Given the description of an element on the screen output the (x, y) to click on. 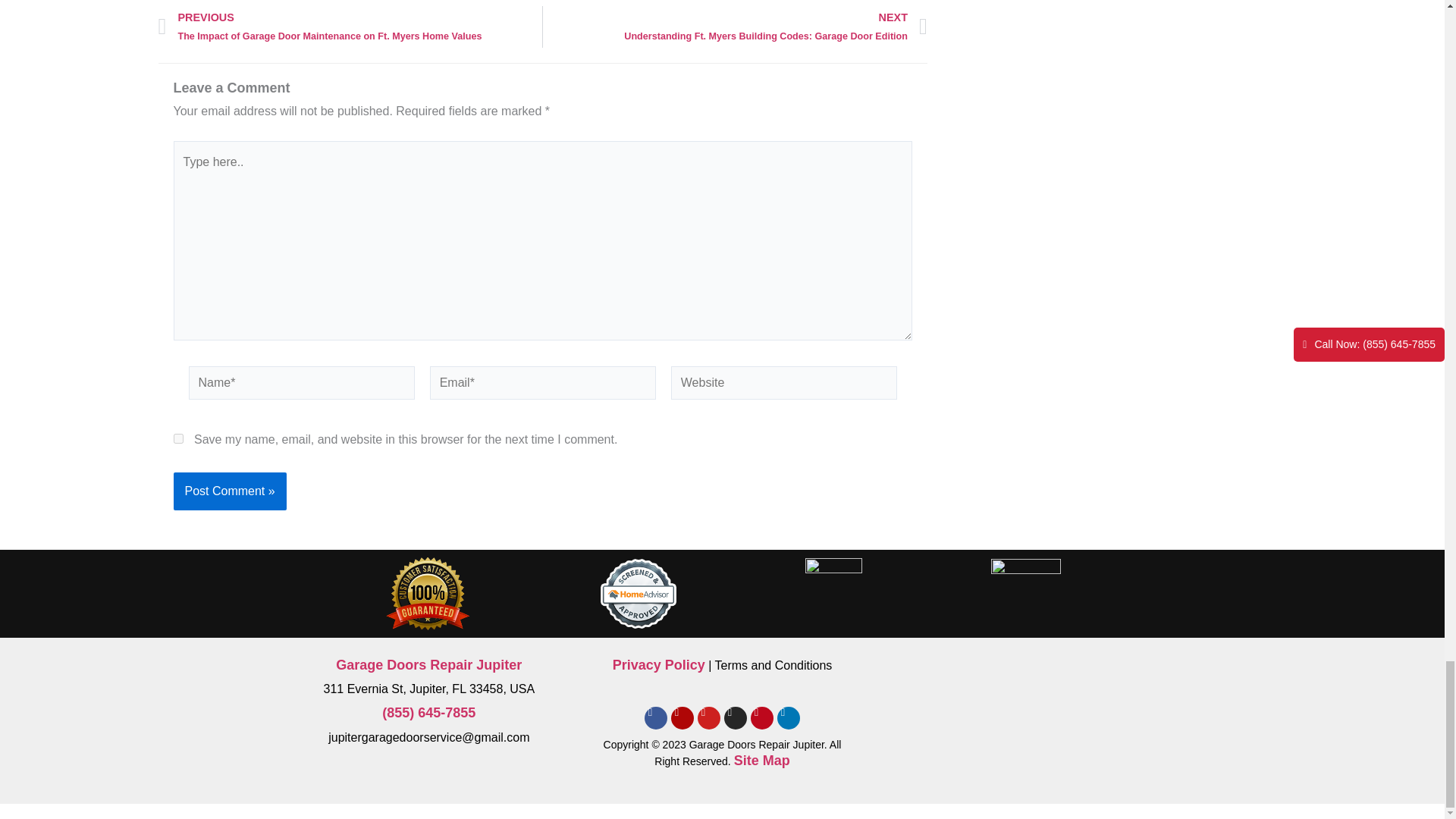
Jupiter, Florida, USA (1015, 709)
yes (178, 438)
